Given the description of an element on the screen output the (x, y) to click on. 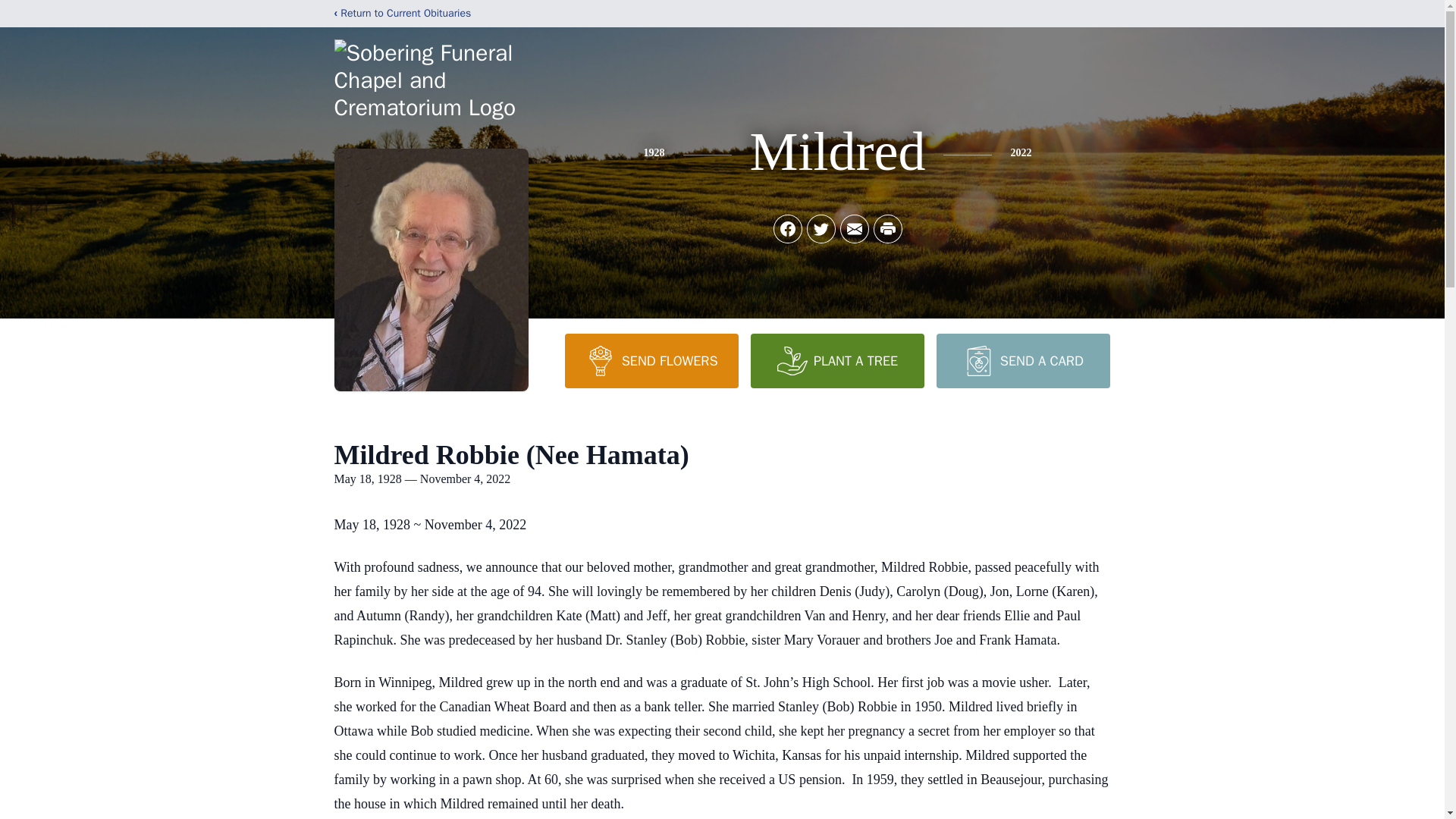
PLANT A TREE (837, 360)
SEND FLOWERS (651, 360)
SEND A CARD (1022, 360)
